Given the description of an element on the screen output the (x, y) to click on. 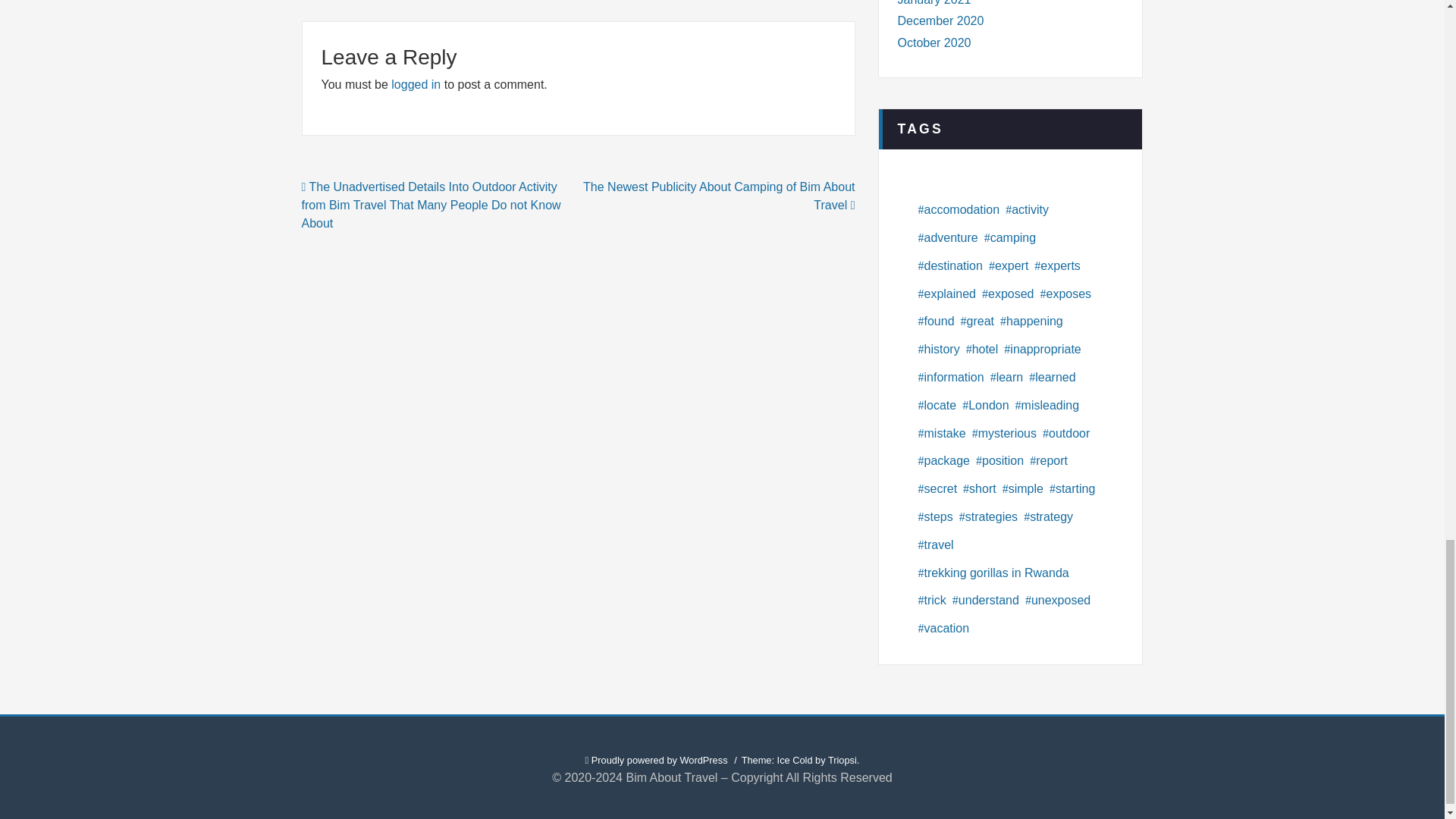
The Newest Publicity About Camping of Bim About Travel (718, 195)
logged in (416, 83)
